Given the description of an element on the screen output the (x, y) to click on. 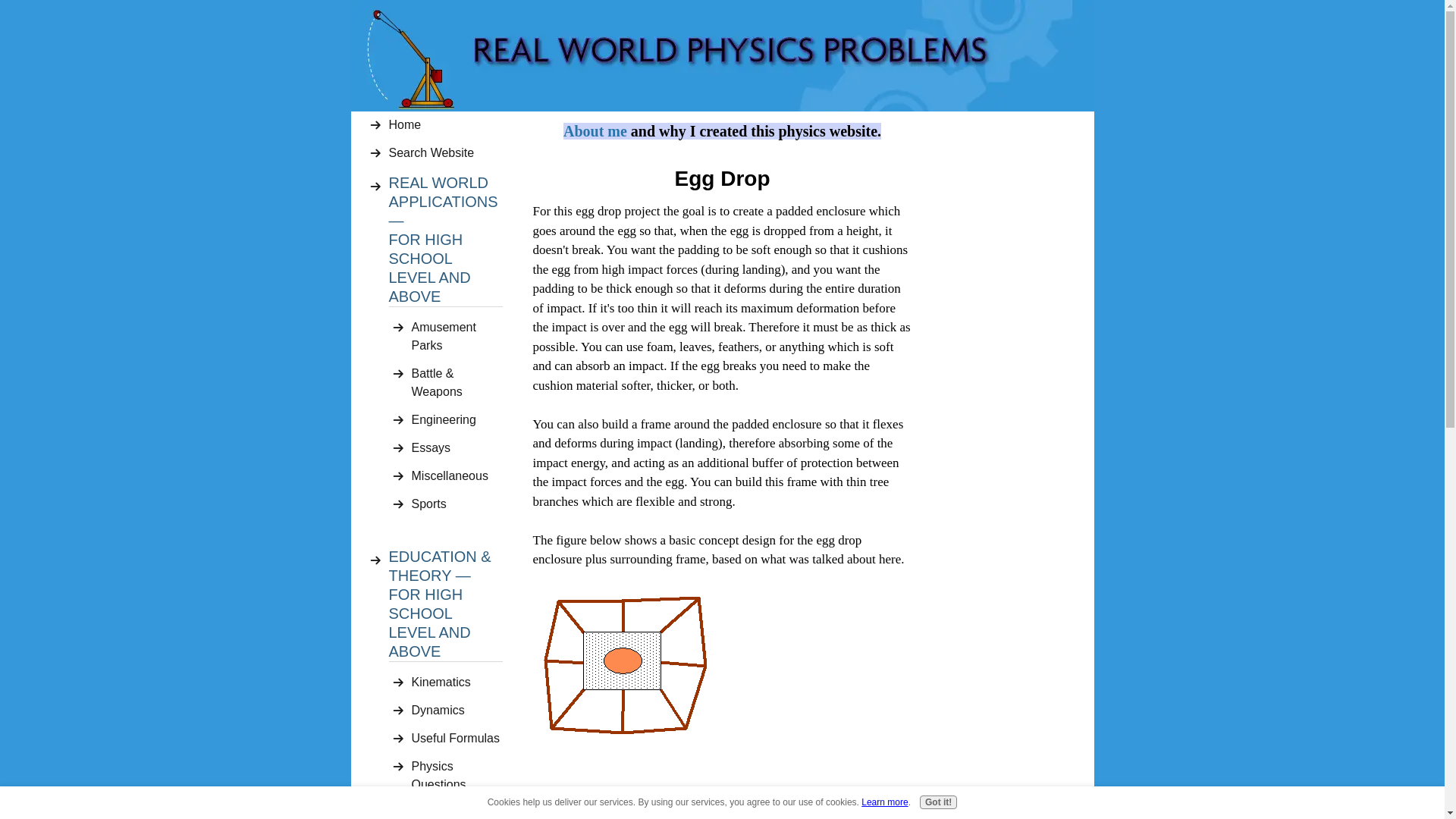
Search Website (445, 153)
Home (445, 125)
Sports (456, 503)
Engineering (456, 420)
Got it! (938, 802)
Learn more (884, 801)
Useful Formulas (456, 738)
Kinematics (456, 682)
Return to Science Fair Project Ideas page (646, 814)
Example Mechanics Problems (456, 809)
Dynamics (456, 710)
Physics Questions (456, 775)
Essays (456, 447)
About me (595, 132)
Amusement Parks (456, 336)
